Given the description of an element on the screen output the (x, y) to click on. 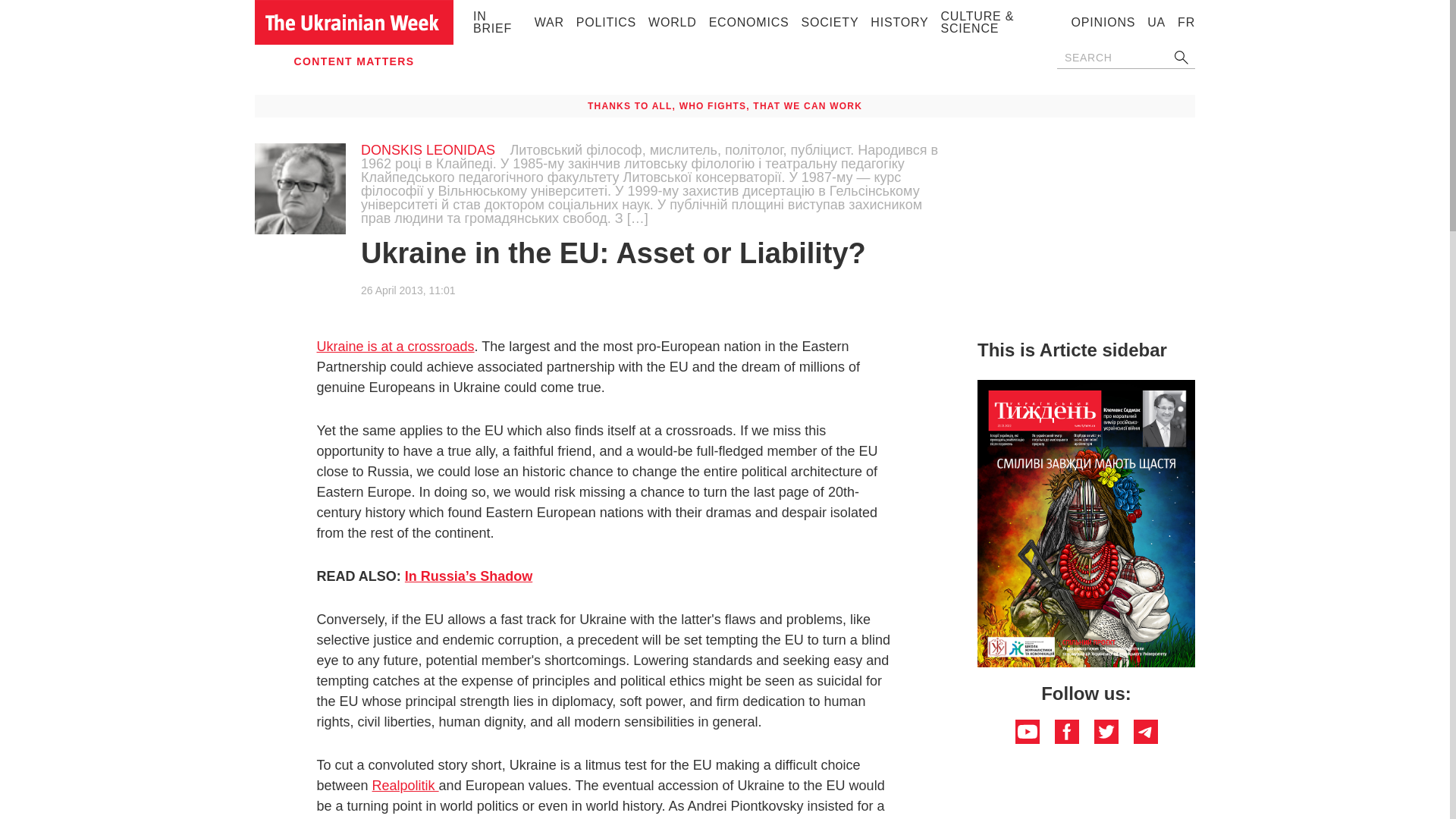
OPINIONS (1103, 21)
WAR (549, 21)
IN BRIEF (492, 21)
Realpolitik (405, 785)
UA (1156, 21)
Ukraine is at a crossroads (395, 346)
POLITICS (606, 21)
ECONOMICS (749, 21)
FR (1186, 21)
HISTORY (899, 21)
